Given the description of an element on the screen output the (x, y) to click on. 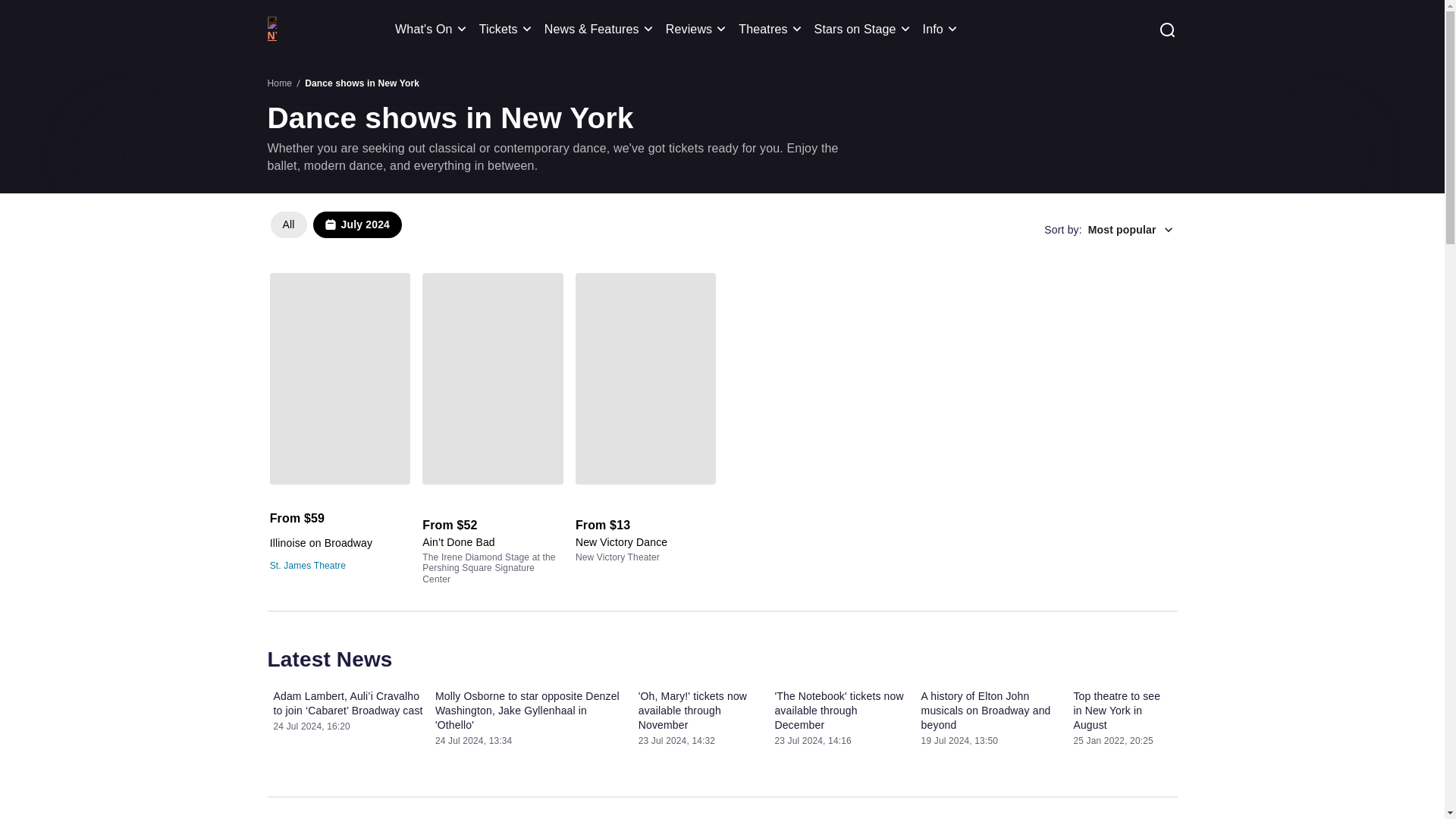
Reviews (698, 28)
Theatres (338, 229)
What's On (772, 28)
Tickets (432, 28)
Home (508, 28)
